Given the description of an element on the screen output the (x, y) to click on. 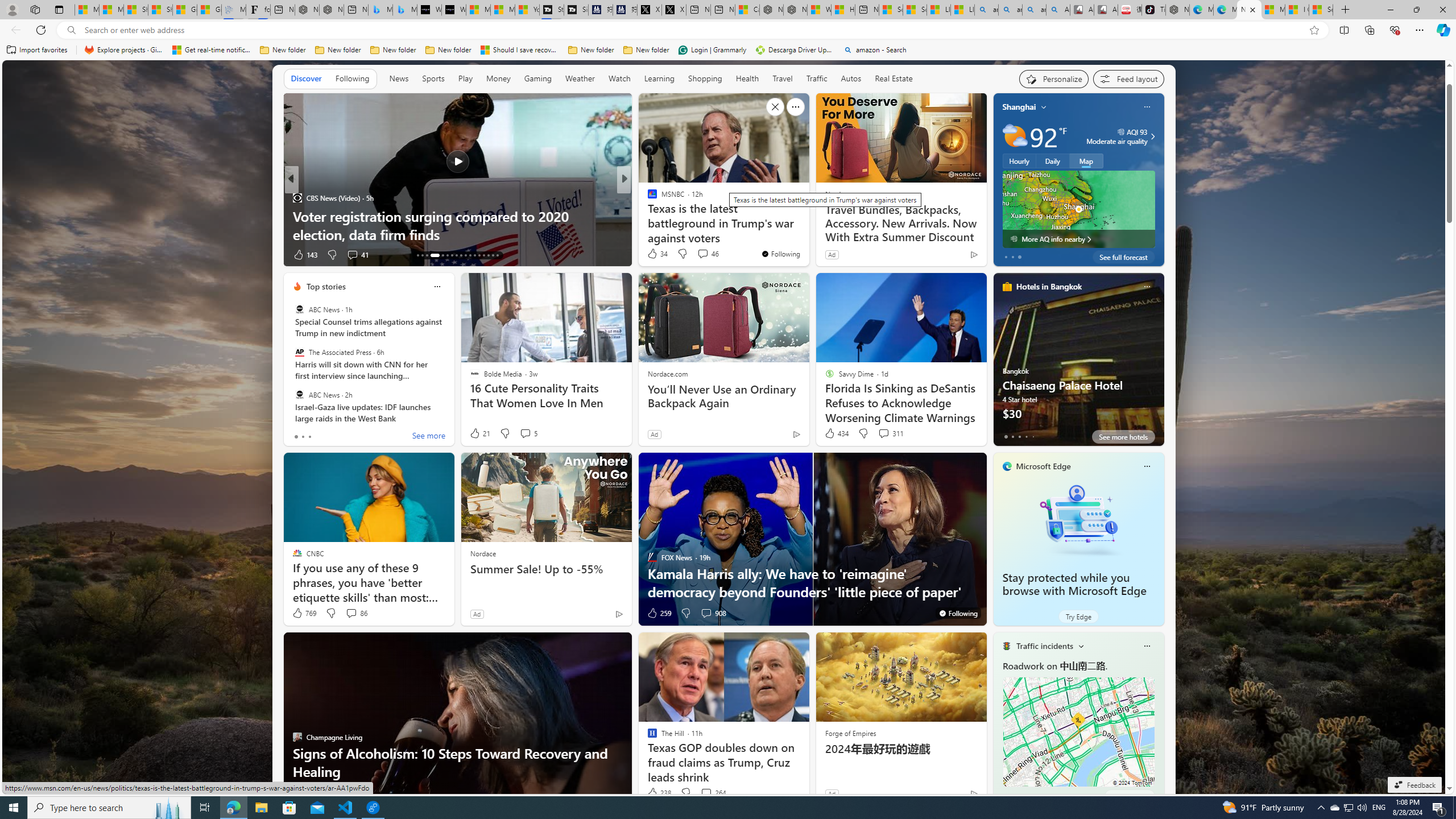
Login | Grammarly (712, 49)
Hourly (1018, 160)
Microsoft Bing Travel - Stays in Bangkok, Bangkok, Thailand (380, 9)
View comments 6 Comment (703, 254)
Huge shark washes ashore at New York City beach | Watch (843, 9)
View comments 46 Comment (707, 253)
Top stories (325, 286)
aqi-icon AQI 93 Moderate air quality (1116, 136)
View comments 2 Comment (350, 792)
View comments 311 Comment (890, 433)
Larger map  (1077, 209)
63 Like (652, 254)
